Given the description of an element on the screen output the (x, y) to click on. 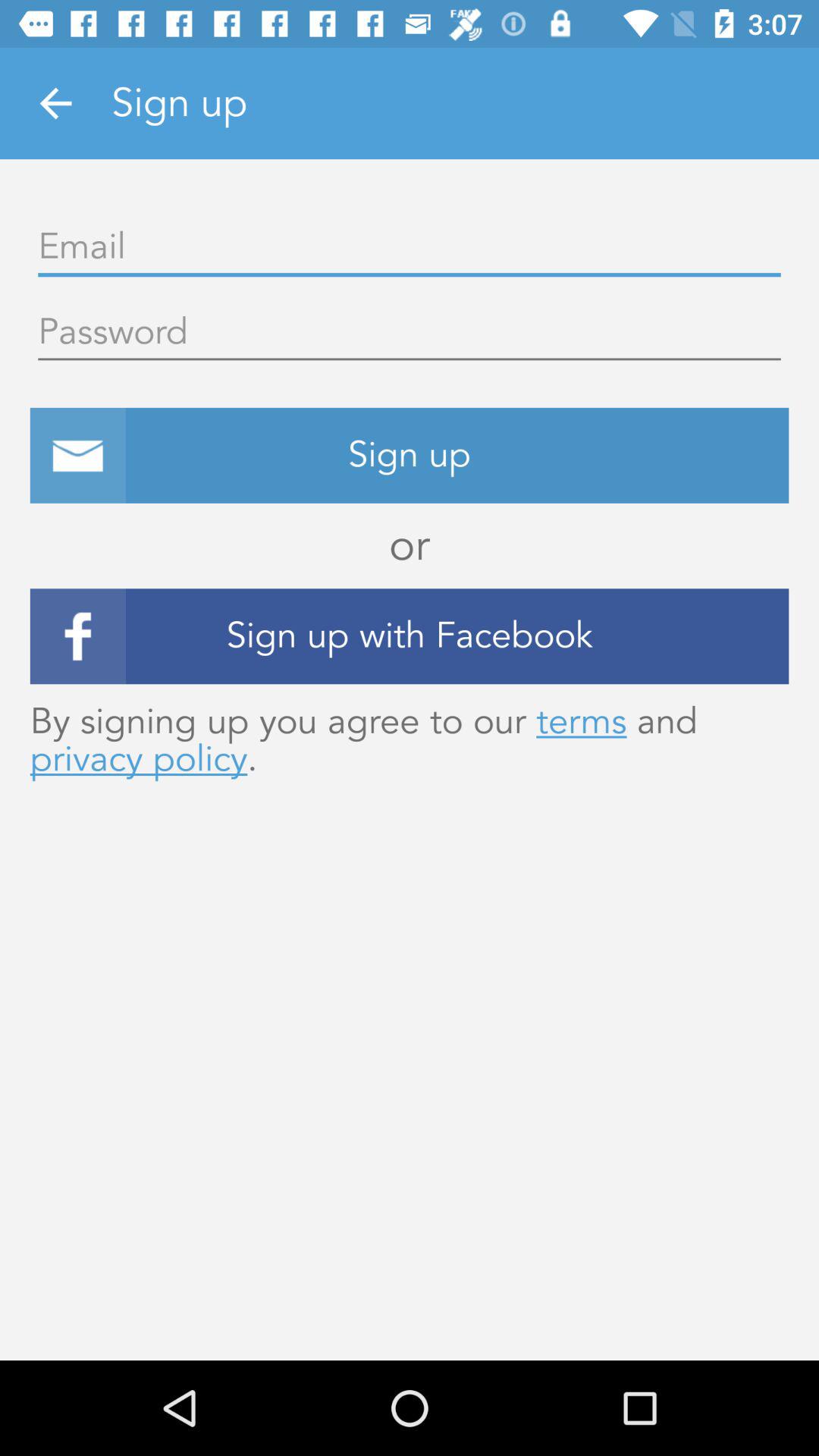
tap the item to the left of sign up item (55, 103)
